Given the description of an element on the screen output the (x, y) to click on. 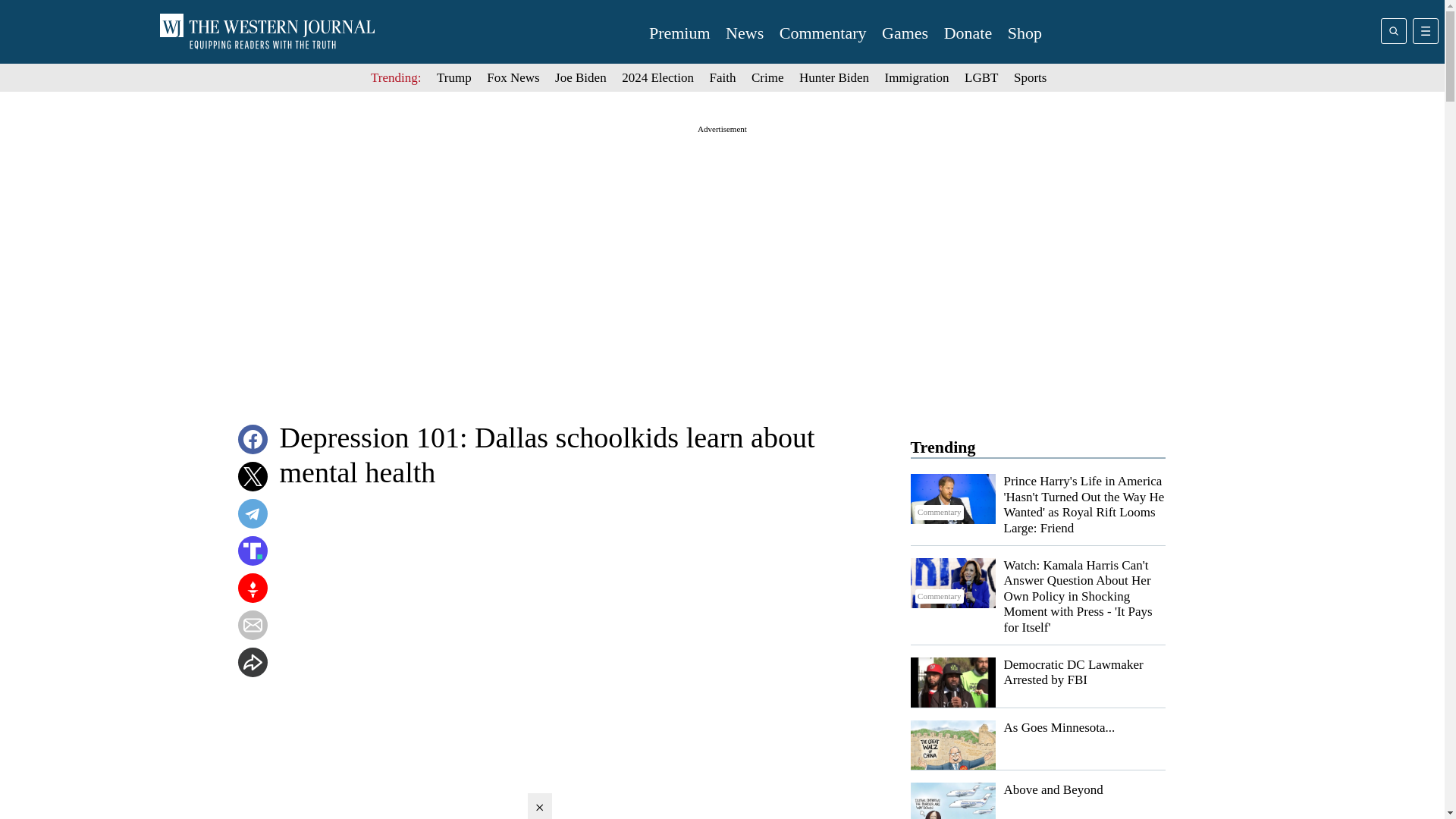
Sports (1029, 77)
News (743, 32)
Commentary (822, 32)
Democratic DC Lawmaker Arrested by FBI (1073, 672)
Commentary (952, 582)
Shop (1024, 32)
2024 Election (657, 77)
Joe Biden (580, 77)
Above and Beyond (1053, 789)
Crime (767, 77)
